Given the description of an element on the screen output the (x, y) to click on. 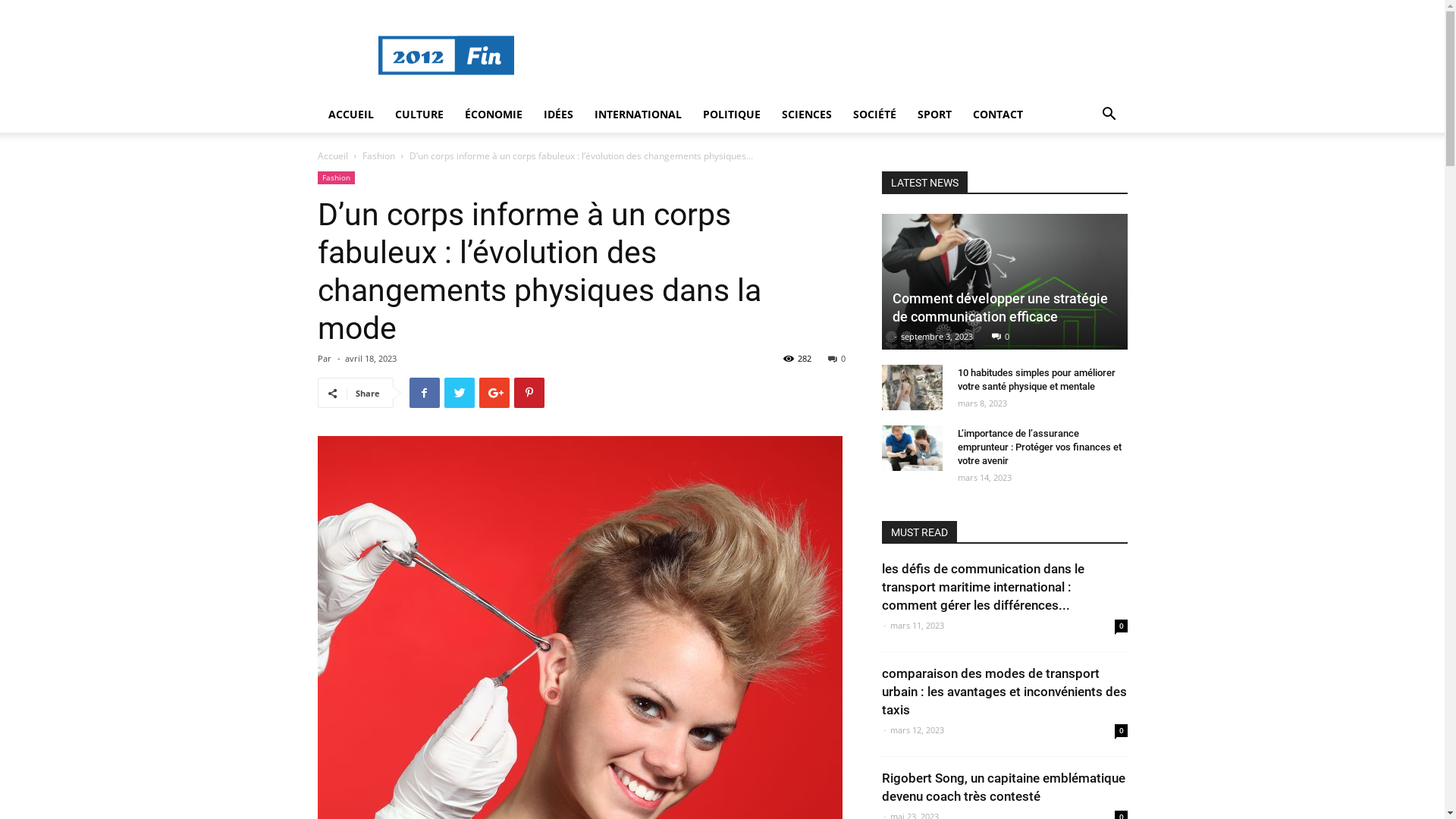
SPORT Element type: text (934, 114)
Recherche Element type: text (1076, 175)
Fashion Element type: text (335, 177)
SCIENCES Element type: text (805, 114)
0 Element type: text (1120, 730)
INTERNATIONAL Element type: text (637, 114)
POLITIQUE Element type: text (730, 114)
CULTURE Element type: text (418, 114)
CONTACT Element type: text (996, 114)
Accueil Element type: text (331, 155)
ACCUEIL Element type: text (349, 114)
0 Element type: text (836, 358)
0 Element type: text (1000, 336)
Fashion Element type: text (378, 155)
0 Element type: text (1120, 625)
